Given the description of an element on the screen output the (x, y) to click on. 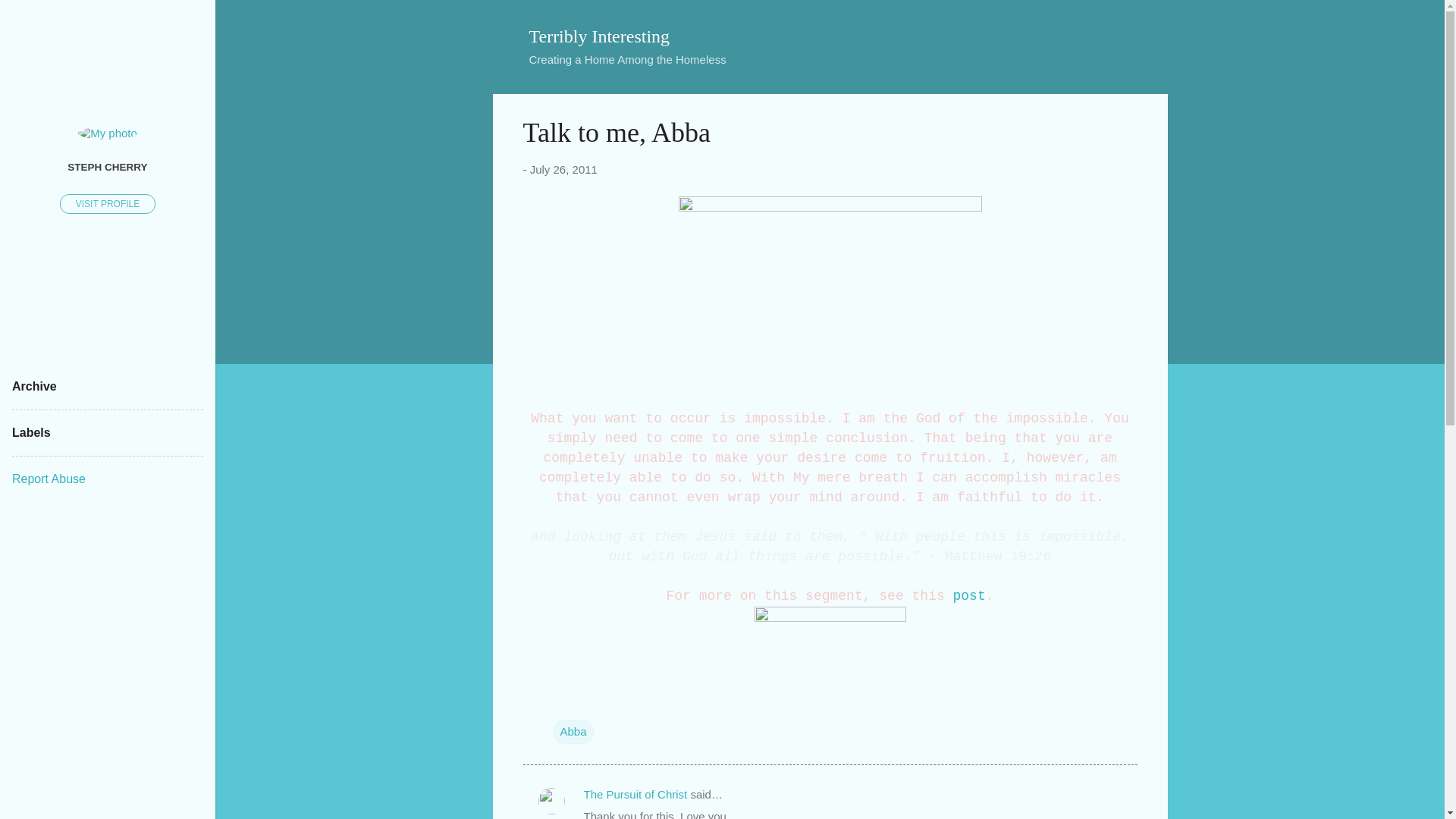
Search (29, 18)
post (969, 595)
Email Post (562, 700)
Abba (573, 730)
VISIT PROFILE (107, 203)
permanent link (562, 169)
July 26, 2011 (562, 169)
Terribly Interesting (599, 35)
The Pursuit of Christ (635, 793)
STEPH CHERRY (107, 166)
